Given the description of an element on the screen output the (x, y) to click on. 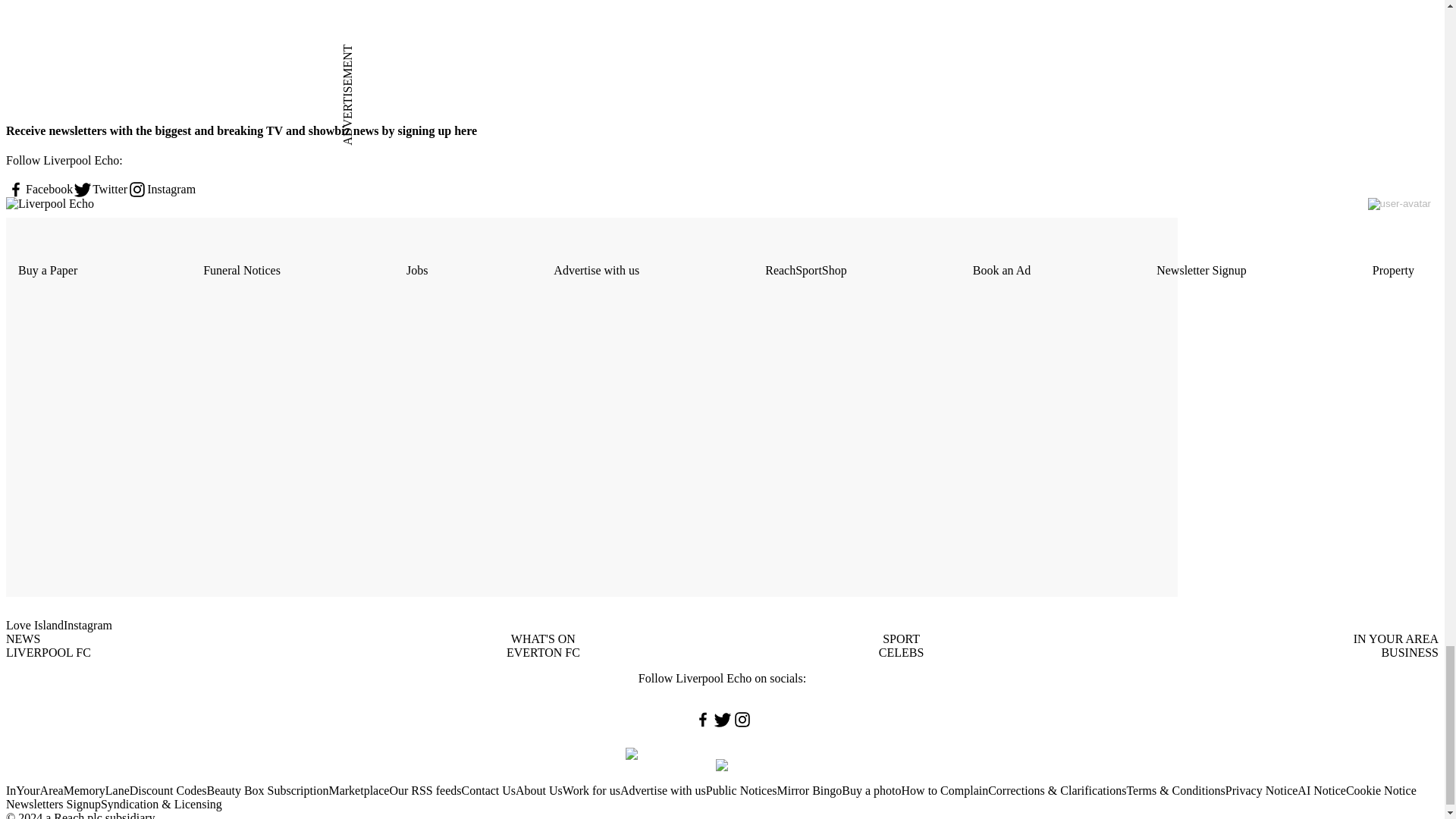
signing up here (435, 130)
Twitter (100, 189)
Instagram (161, 189)
Facebook (38, 189)
